Given the description of an element on the screen output the (x, y) to click on. 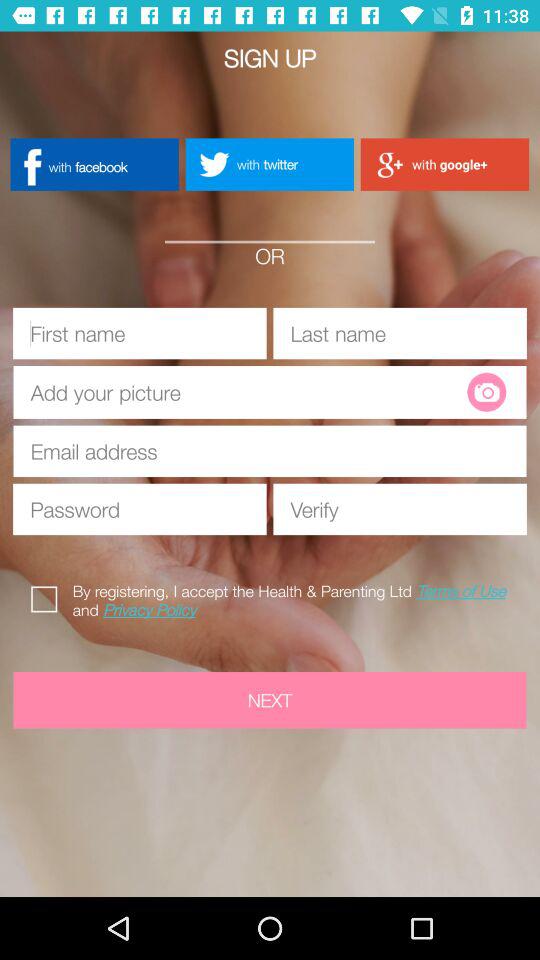
box for entering information (139, 333)
